Given the description of an element on the screen output the (x, y) to click on. 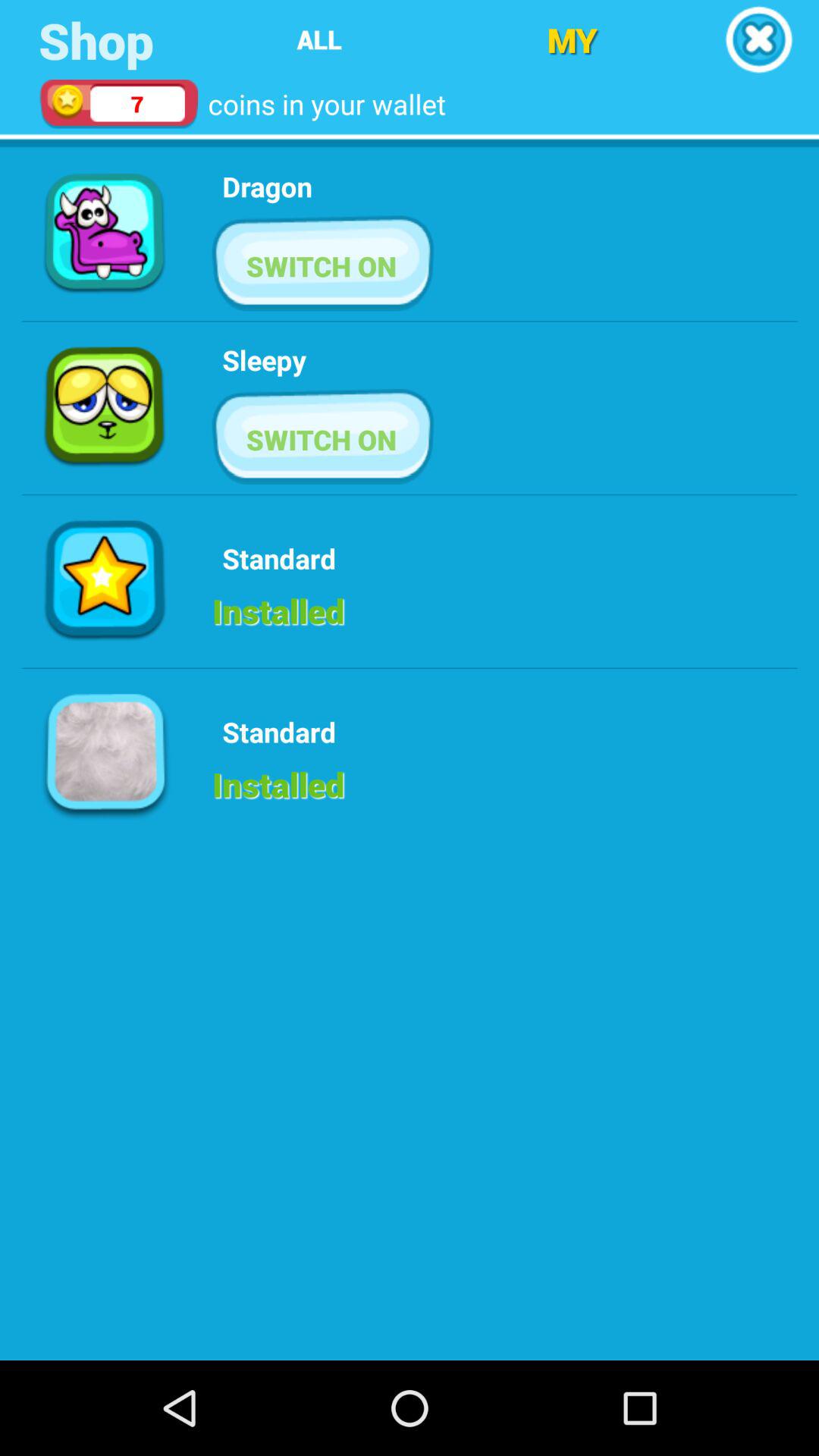
tap my icon (572, 39)
